Given the description of an element on the screen output the (x, y) to click on. 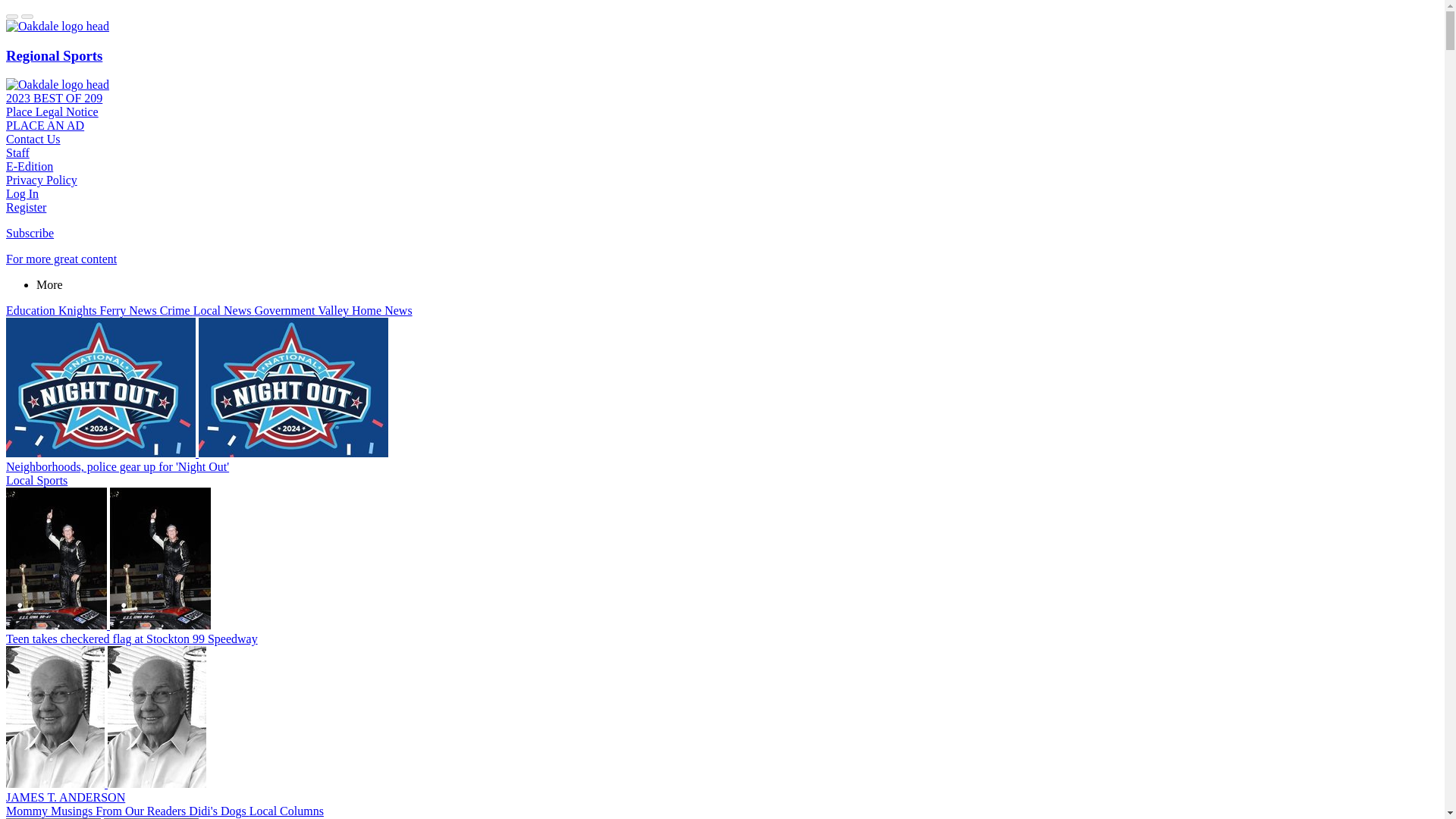
Knights Ferry News (109, 309)
Privacy Policy (41, 179)
Register (25, 206)
Local News (223, 309)
Place Legal Notice (52, 111)
Regional Sports (53, 55)
Contact Us (33, 138)
Local Sports (35, 480)
Log In (22, 193)
Staff (17, 152)
Education (31, 309)
2023 BEST OF 209 (53, 97)
Valley Home News (364, 309)
Government (286, 309)
PLACE AN AD (44, 124)
